Given the description of an element on the screen output the (x, y) to click on. 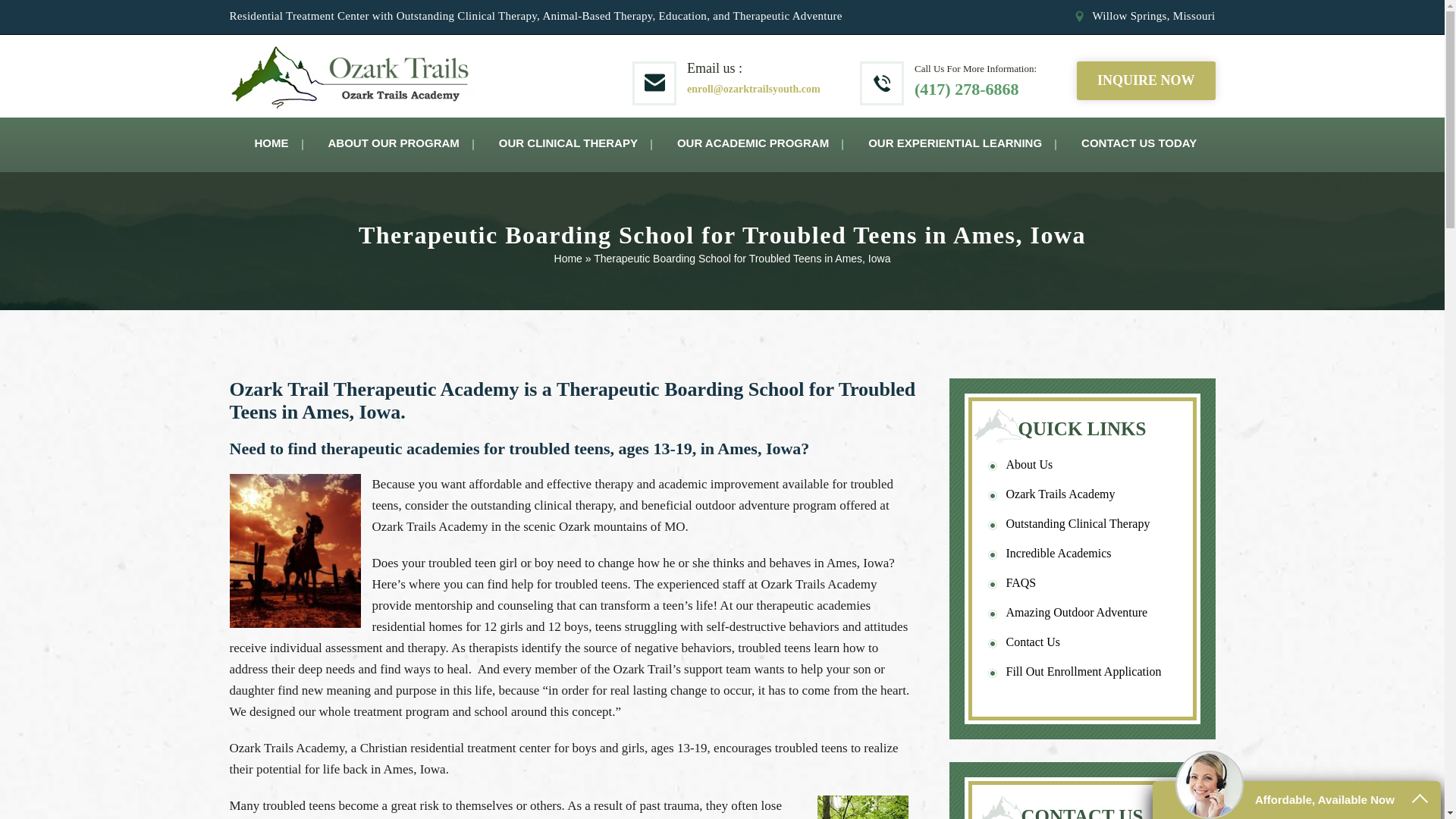
Ozark Trails Academy (429, 526)
ABOUT OUR PROGRAM (392, 144)
OUR CLINICAL THERAPY (568, 144)
OUR EXPERIENTIAL LEARNING (954, 144)
CONTACT US TODAY (1138, 144)
Home (568, 258)
for troubled teens (632, 494)
INQUIRE NOW (1146, 80)
OUR ACADEMIC PROGRAM (752, 144)
